Given the description of an element on the screen output the (x, y) to click on. 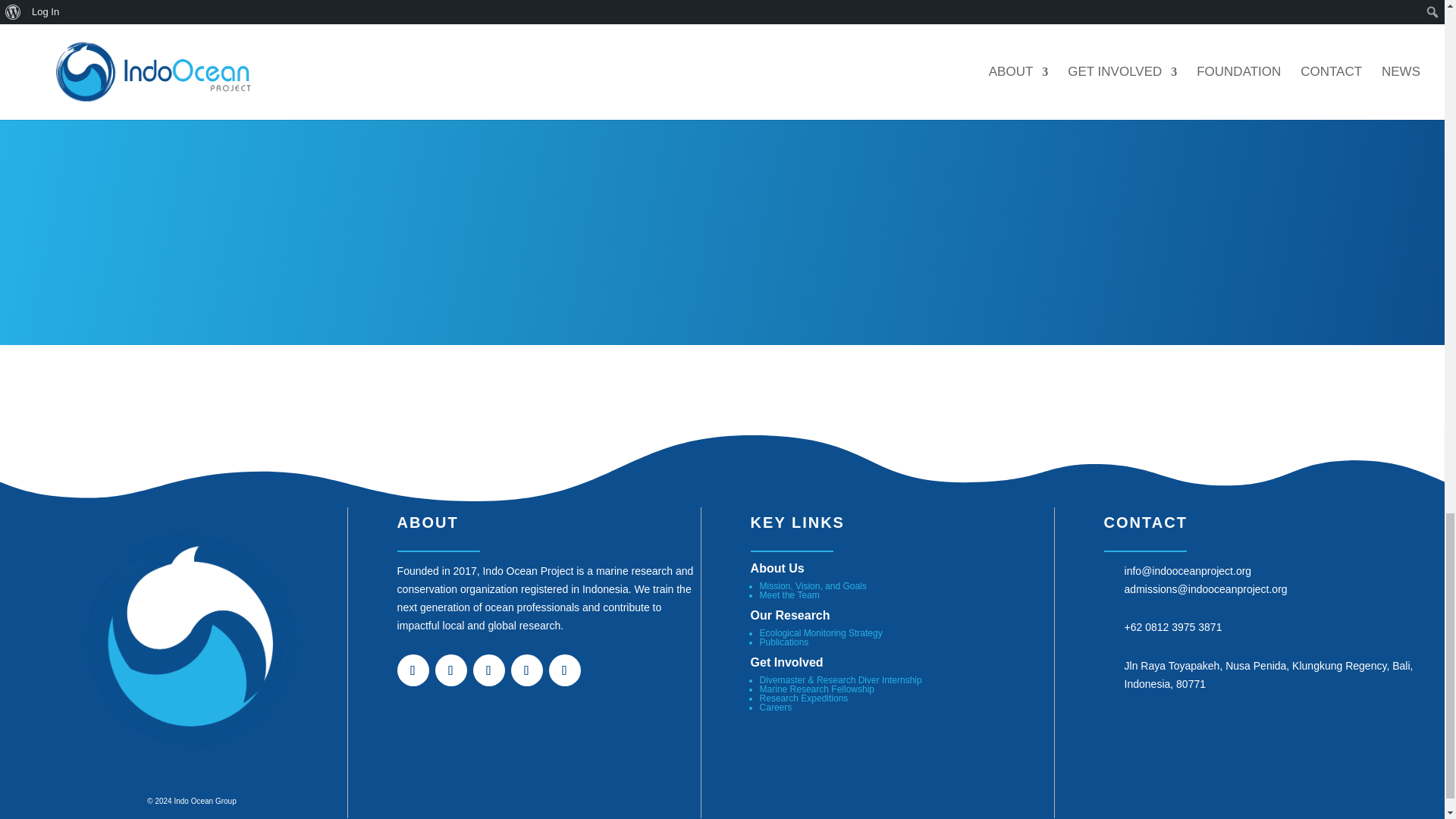
Follow on LinkedIn (489, 670)
Follow on ResearchGate (564, 670)
Follow on Facebook (451, 670)
Follow on Youtube (527, 670)
Follow on Instagram (413, 670)
